Given the description of an element on the screen output the (x, y) to click on. 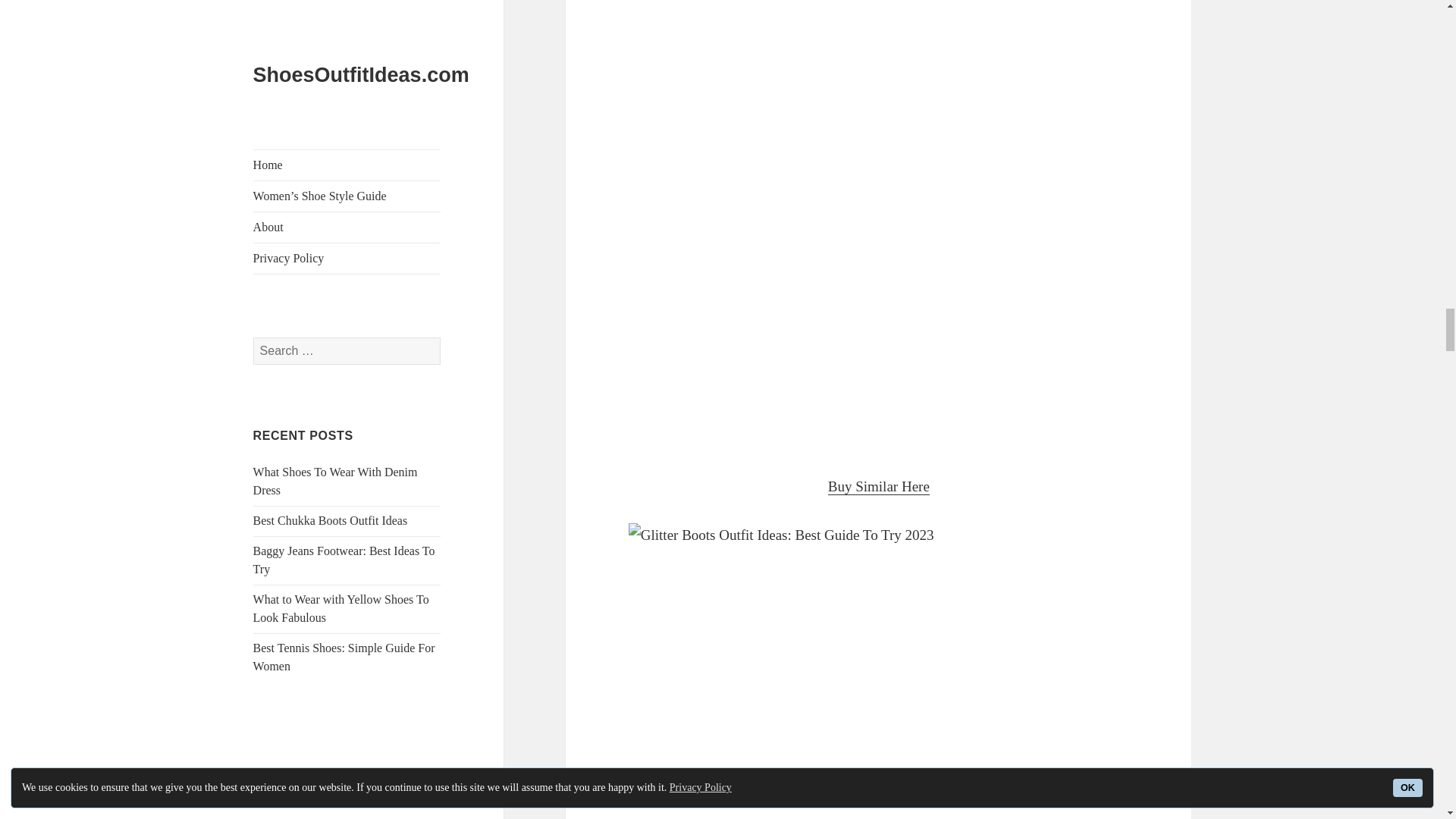
Buy Similar Here (879, 486)
